Given the description of an element on the screen output the (x, y) to click on. 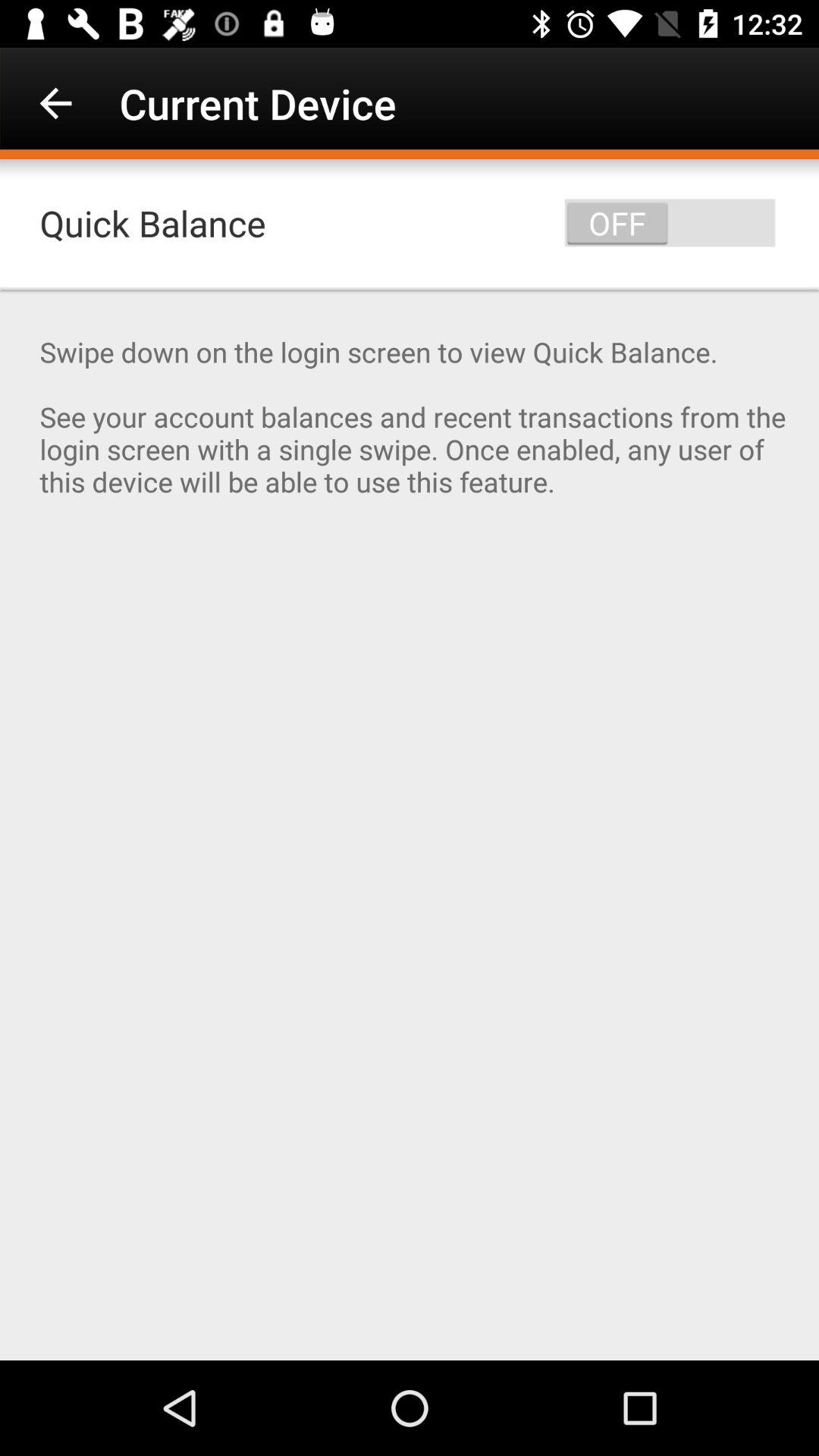
press the app to the left of current device (55, 103)
